Given the description of an element on the screen output the (x, y) to click on. 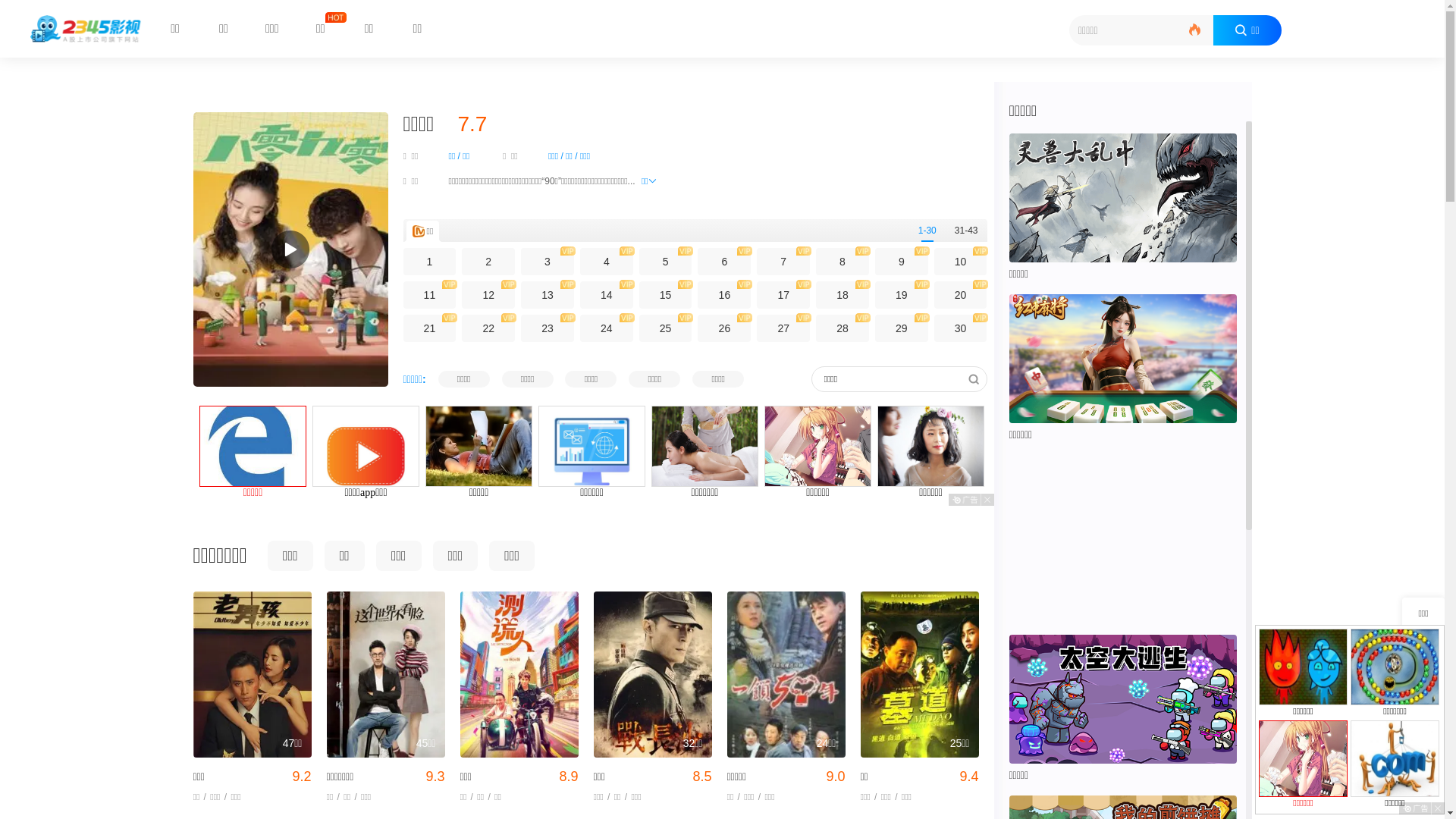
25 Element type: text (665, 328)
15 Element type: text (665, 294)
20 Element type: text (960, 294)
16 Element type: text (723, 294)
30 Element type: text (960, 328)
28 Element type: text (842, 328)
9 Element type: text (901, 261)
24 Element type: text (606, 328)
21 Element type: text (429, 328)
23 Element type: text (547, 328)
6 Element type: text (723, 261)
26 Element type: text (723, 328)
18 Element type: text (842, 294)
5 Element type: text (665, 261)
10 Element type: text (960, 261)
31-43 Element type: text (966, 230)
14 Element type: text (606, 294)
19 Element type: text (901, 294)
8 Element type: text (842, 261)
3 Element type: text (547, 261)
27 Element type: text (782, 328)
4 Element type: text (606, 261)
1 Element type: text (429, 261)
29 Element type: text (901, 328)
13 Element type: text (547, 294)
7 Element type: text (782, 261)
22 Element type: text (487, 328)
12 Element type: text (487, 294)
11 Element type: text (429, 294)
1-30 Element type: text (927, 230)
17 Element type: text (782, 294)
2 Element type: text (487, 261)
